Given the description of an element on the screen output the (x, y) to click on. 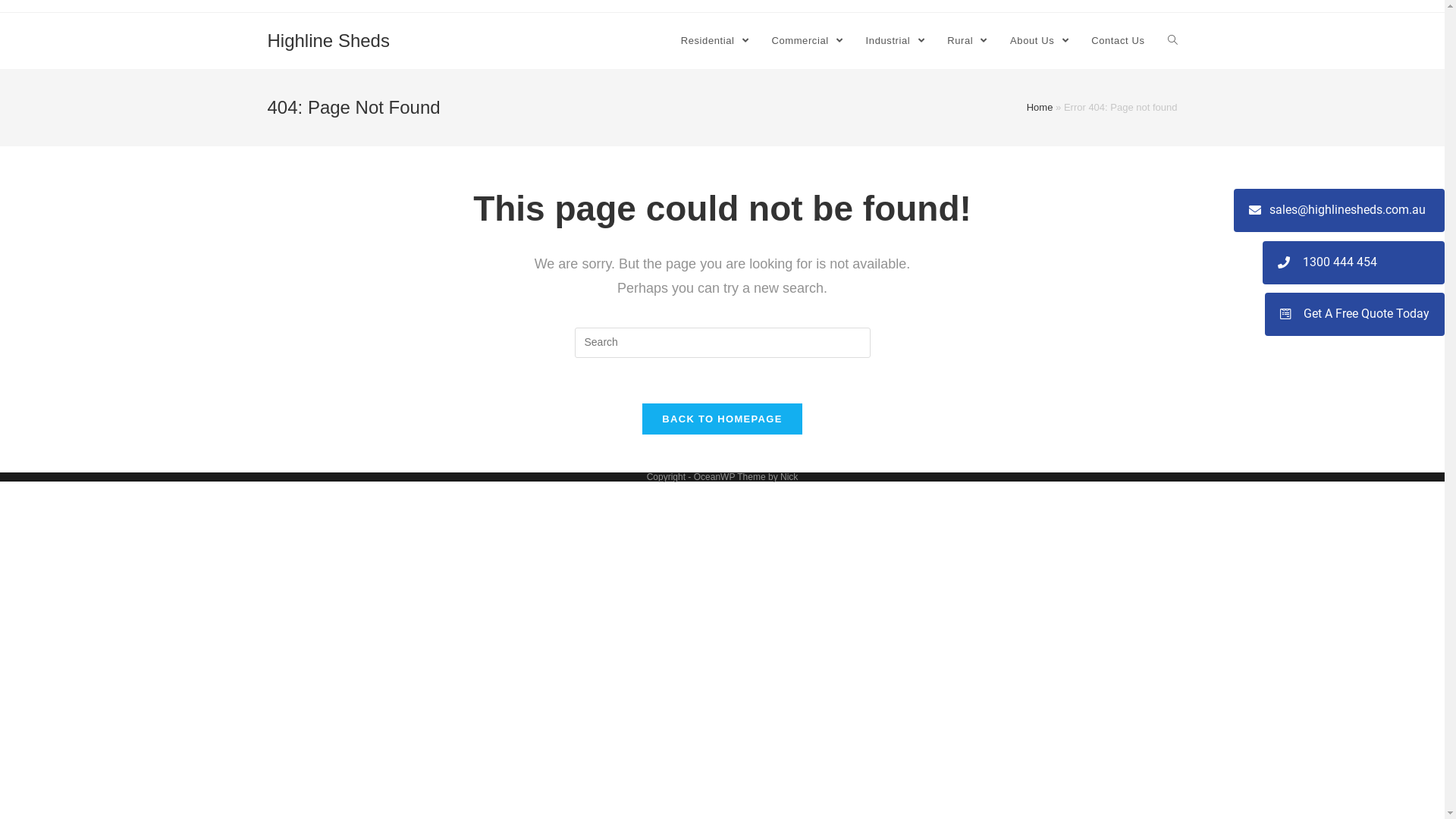
Industrial Element type: text (895, 40)
Highline Sheds Element type: text (327, 40)
Get A Free Quote Today Element type: text (1354, 313)
Contact Us Element type: text (1117, 40)
Home Element type: text (1039, 106)
About Us Element type: text (1038, 40)
Residential Element type: text (714, 40)
Commercial Element type: text (806, 40)
1300 444 454 Element type: text (1353, 262)
Rural Element type: text (966, 40)
sales@highlinesheds.com.au Element type: text (1338, 210)
BACK TO HOMEPAGE Element type: text (721, 418)
